Given the description of an element on the screen output the (x, y) to click on. 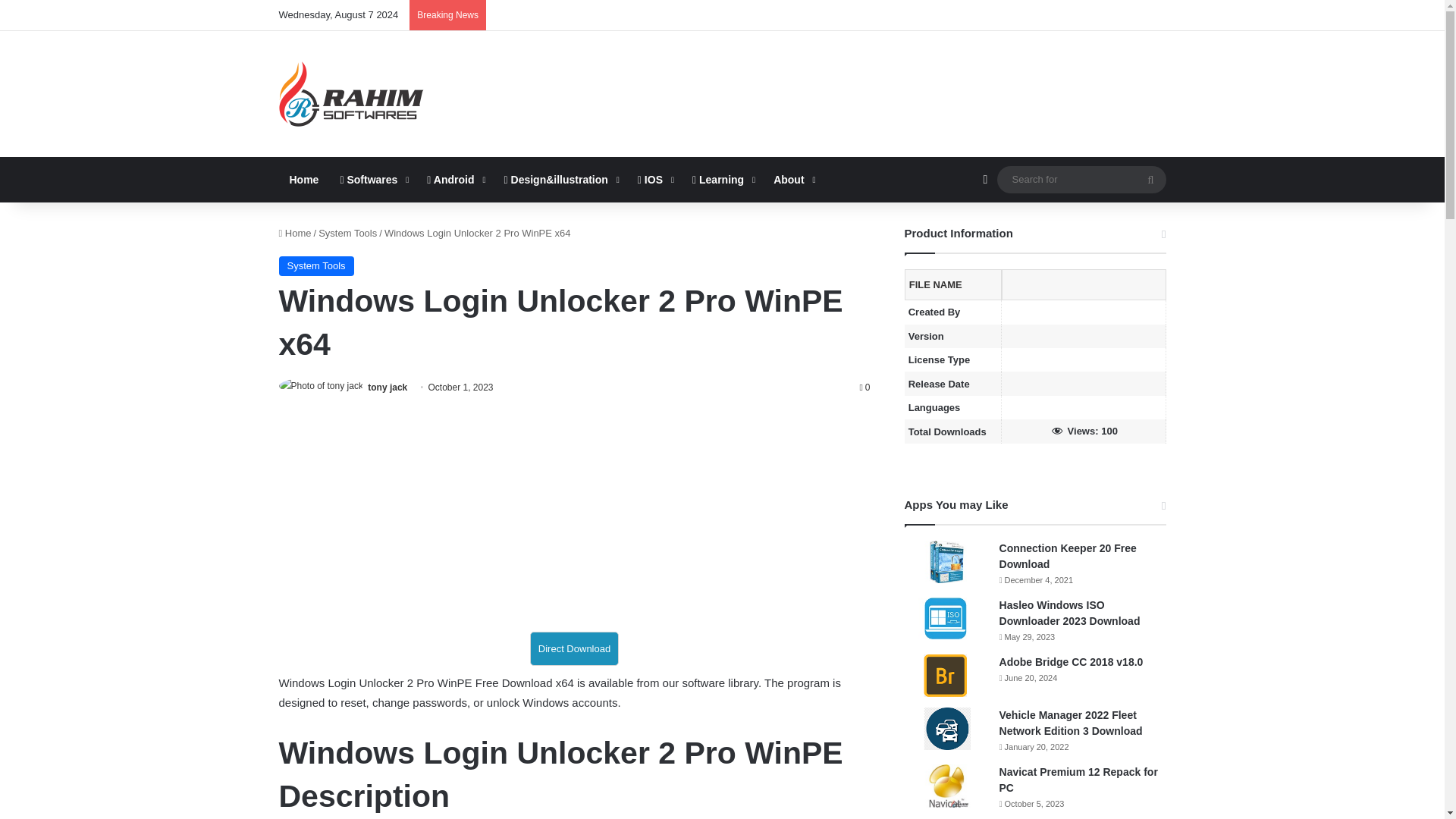
Rahim soft (351, 93)
tony jack (387, 387)
Advertisement (574, 517)
Search for (1080, 179)
Android (454, 179)
Softwares (372, 179)
Direct Download (573, 648)
Home (304, 179)
